Given the description of an element on the screen output the (x, y) to click on. 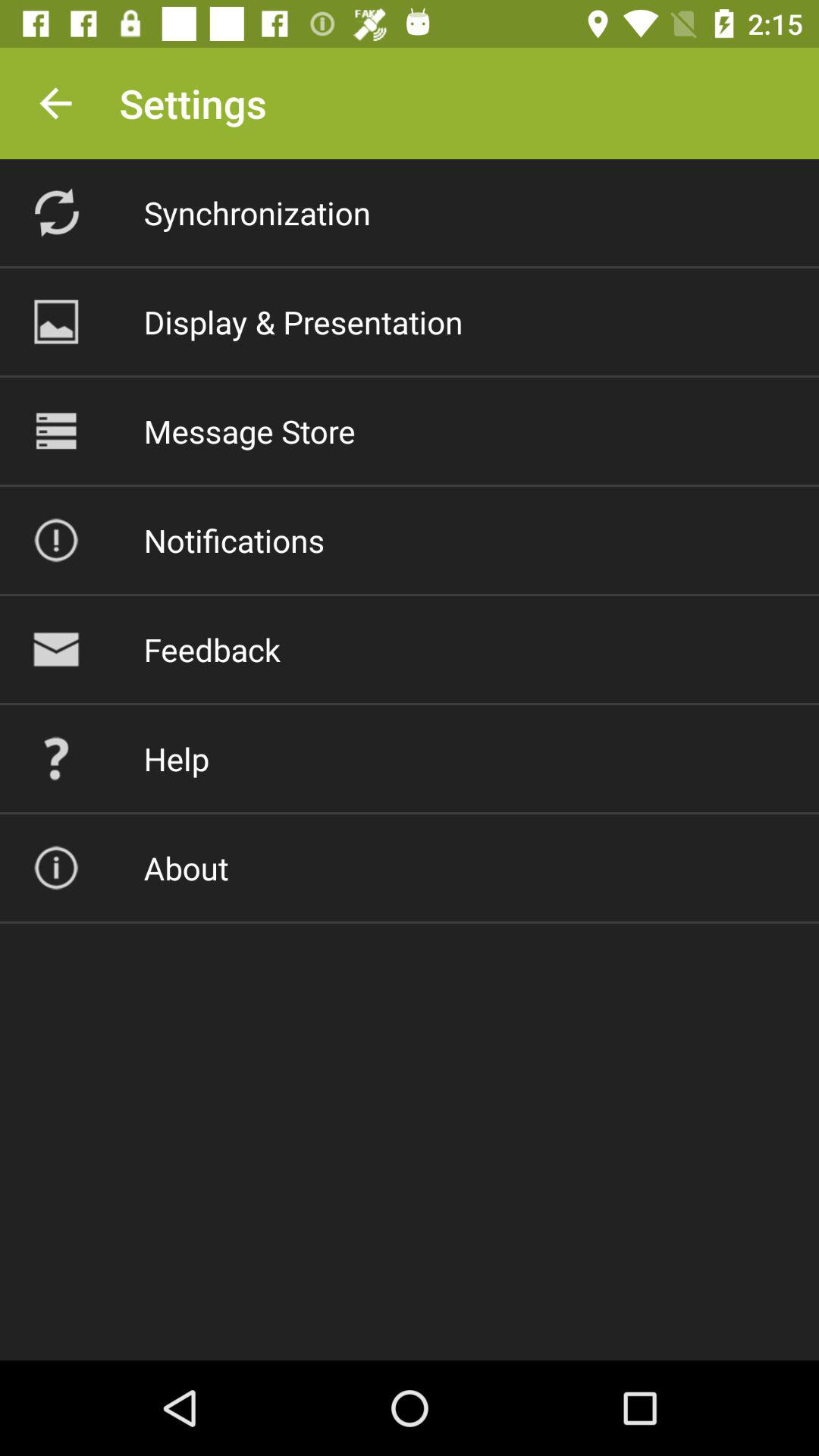
press the help (176, 758)
